Given the description of an element on the screen output the (x, y) to click on. 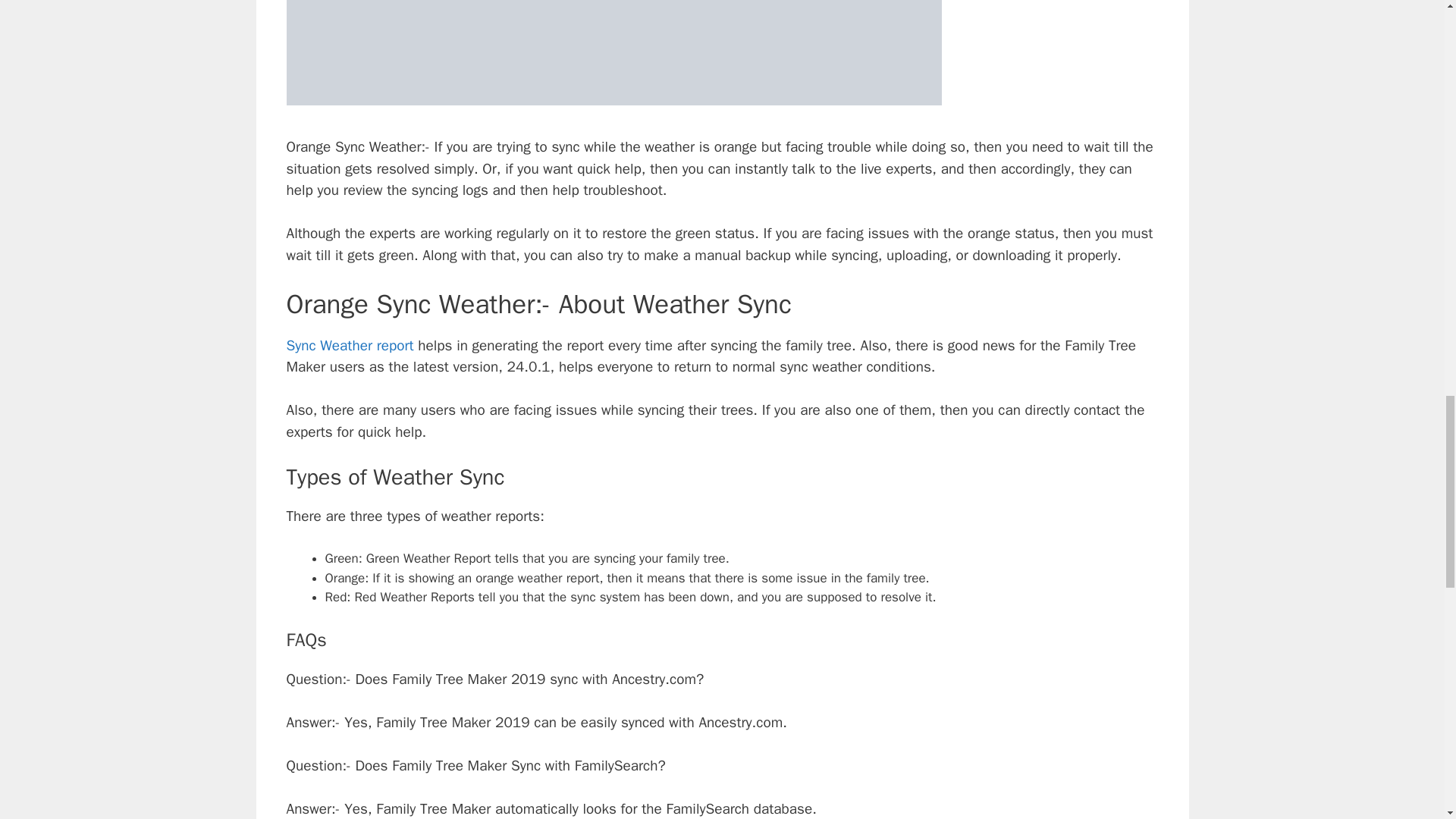
Sync Weather report (349, 345)
